Given the description of an element on the screen output the (x, y) to click on. 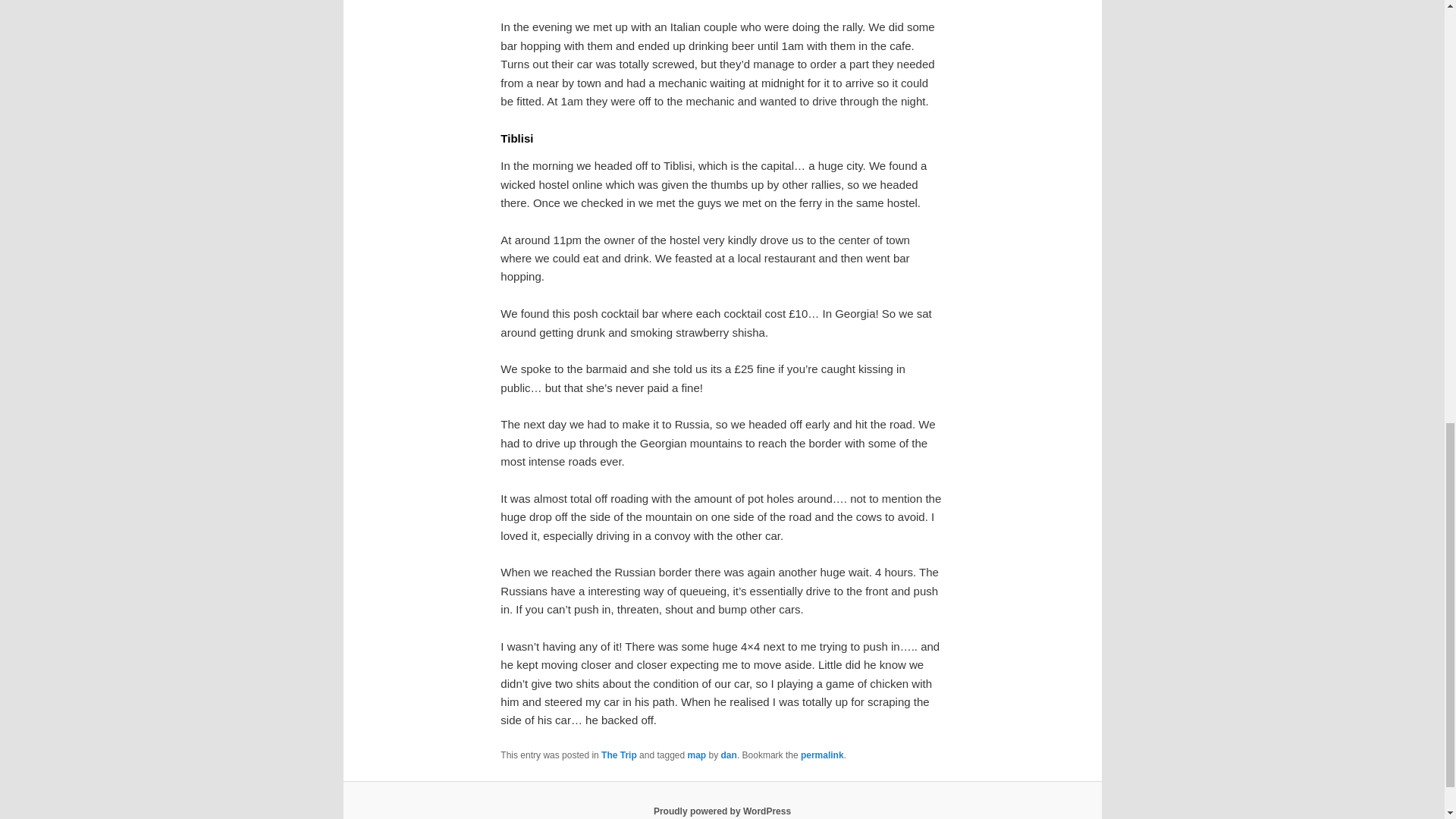
Proudly powered by WordPress (721, 810)
map (696, 755)
Semantic Personal Publishing Platform (721, 810)
Permalink to Georgia (822, 755)
dan (728, 755)
permalink (822, 755)
The Trip (619, 755)
